Given the description of an element on the screen output the (x, y) to click on. 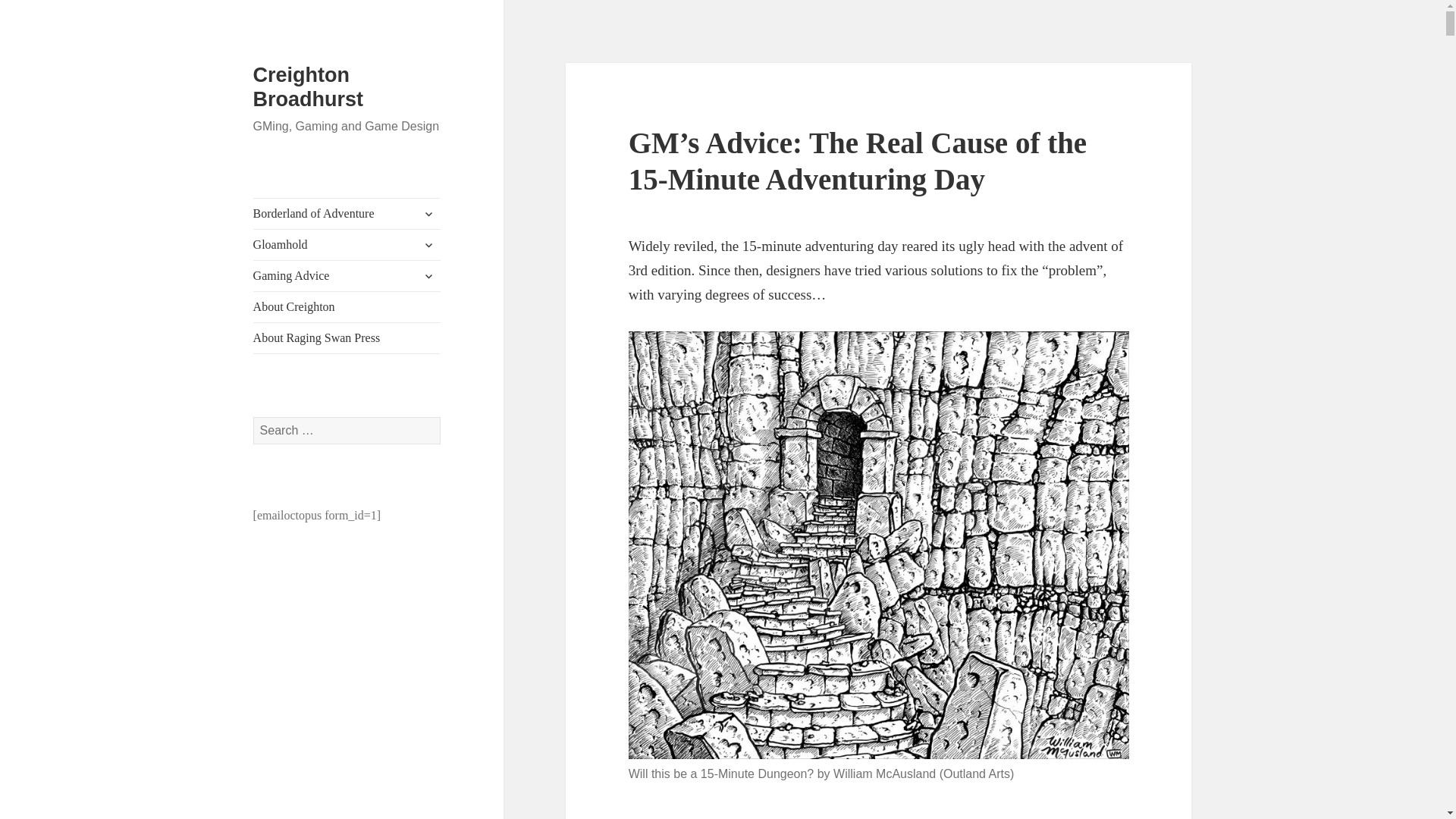
Gaming Advice (347, 276)
expand child menu (428, 244)
About Raging Swan Press (347, 337)
Gloamhold (347, 245)
expand child menu (428, 213)
Borderland of Adventure (347, 214)
Creighton Broadhurst (308, 86)
expand child menu (428, 275)
